Given the description of an element on the screen output the (x, y) to click on. 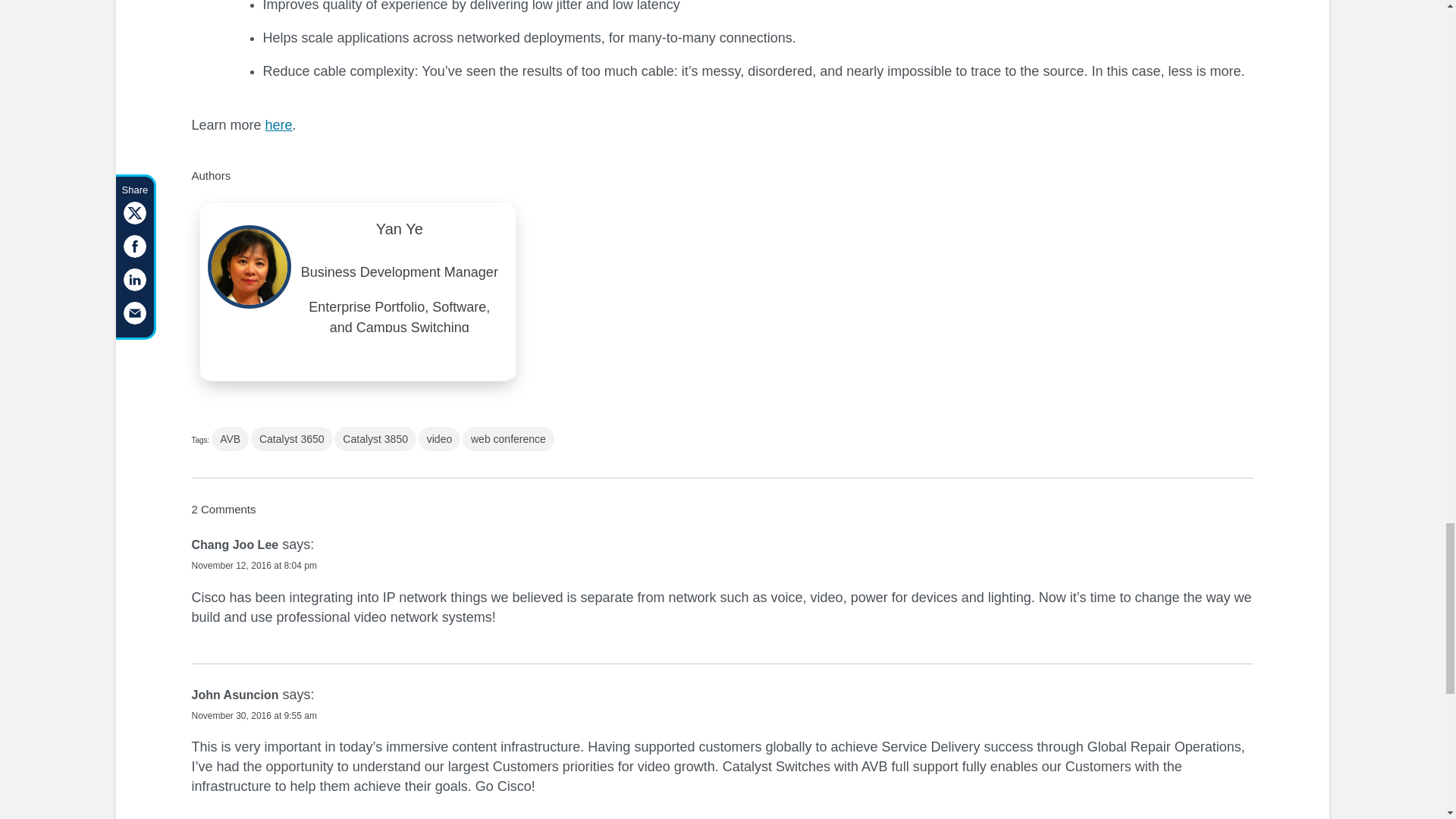
AVB (229, 438)
Yan Ye (399, 232)
Catalyst 3650 (291, 438)
web conference (508, 438)
November 30, 2016 at 9:55 am (252, 715)
Catalyst 3850 (375, 438)
video (439, 438)
November 12, 2016 at 8:04 pm (252, 565)
here (278, 124)
